Given the description of an element on the screen output the (x, y) to click on. 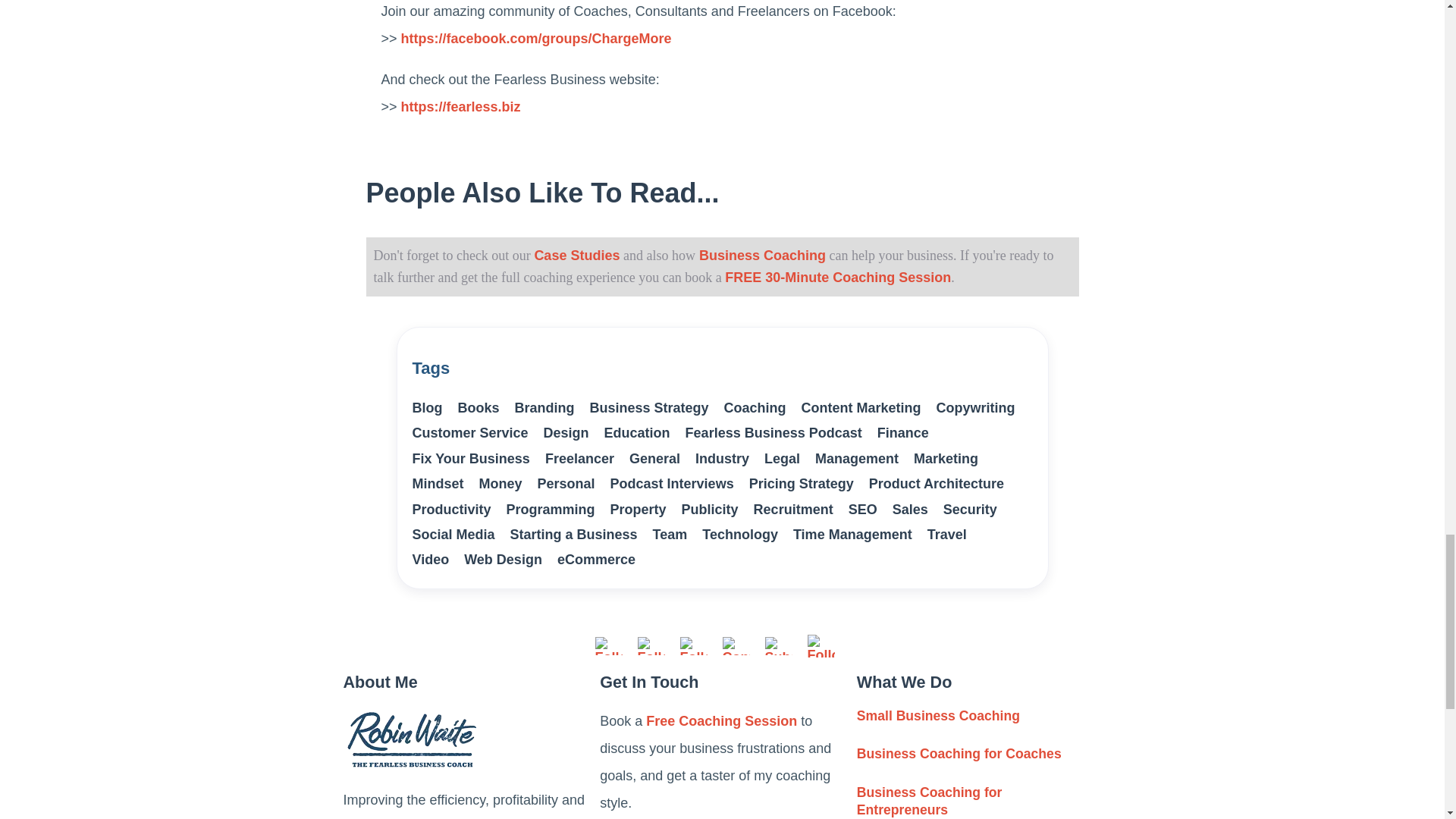
Customer Service (470, 432)
Coaching (754, 407)
Small Business Coaching (942, 715)
Business Coaching (760, 255)
Copywriting (975, 407)
Books (478, 407)
Content Marketing (861, 407)
Case Studies (577, 255)
Blog (427, 407)
FREE 30-Minute Coaching Session (837, 277)
